Given the description of an element on the screen output the (x, y) to click on. 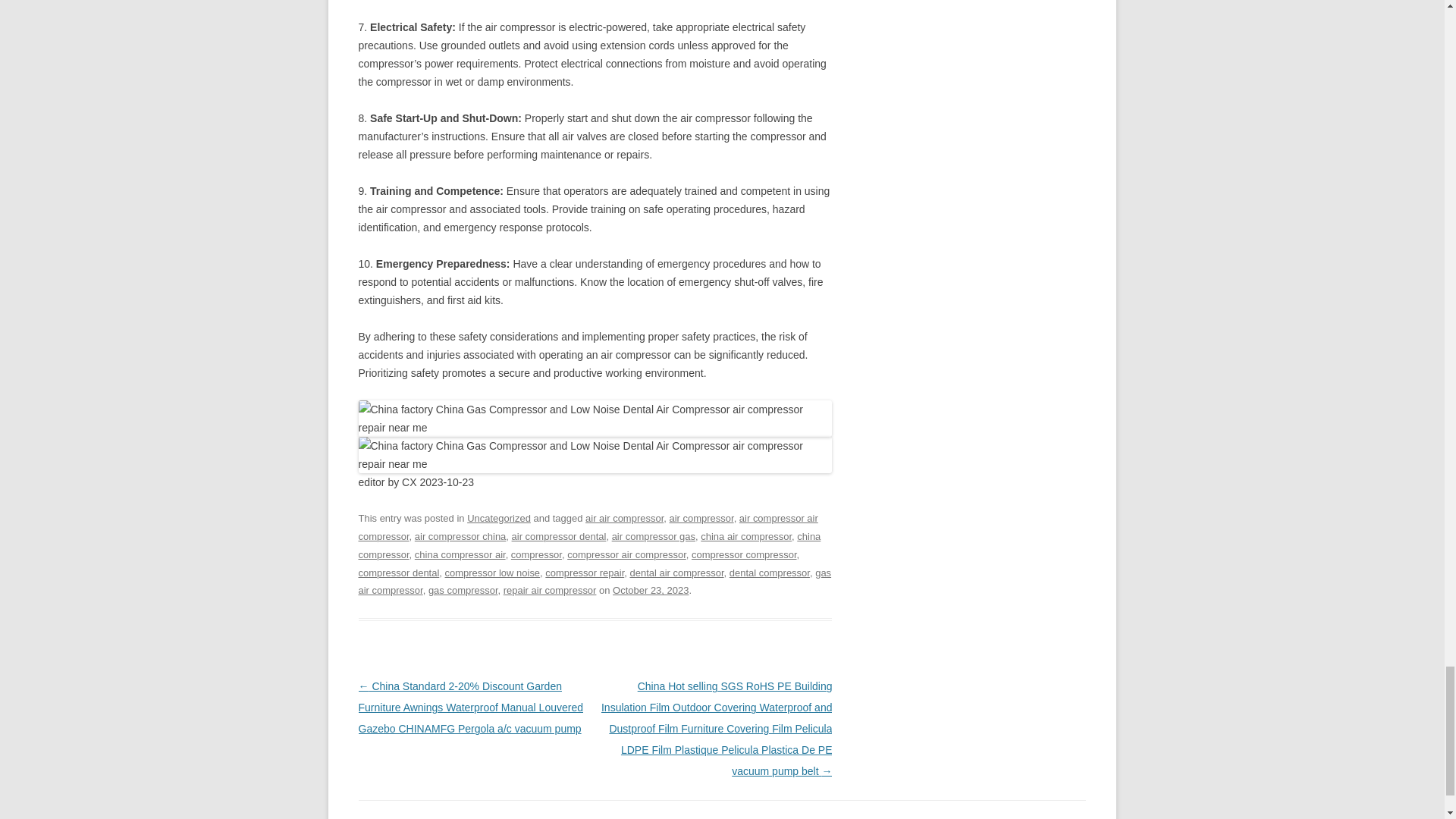
compressor air compressor (626, 554)
compressor compressor (743, 554)
dental compressor (769, 572)
china compressor (589, 545)
gas air compressor (594, 581)
air air compressor (624, 518)
dental air compressor (675, 572)
compressor (536, 554)
2:18 am (650, 590)
compressor repair (584, 572)
